Given the description of an element on the screen output the (x, y) to click on. 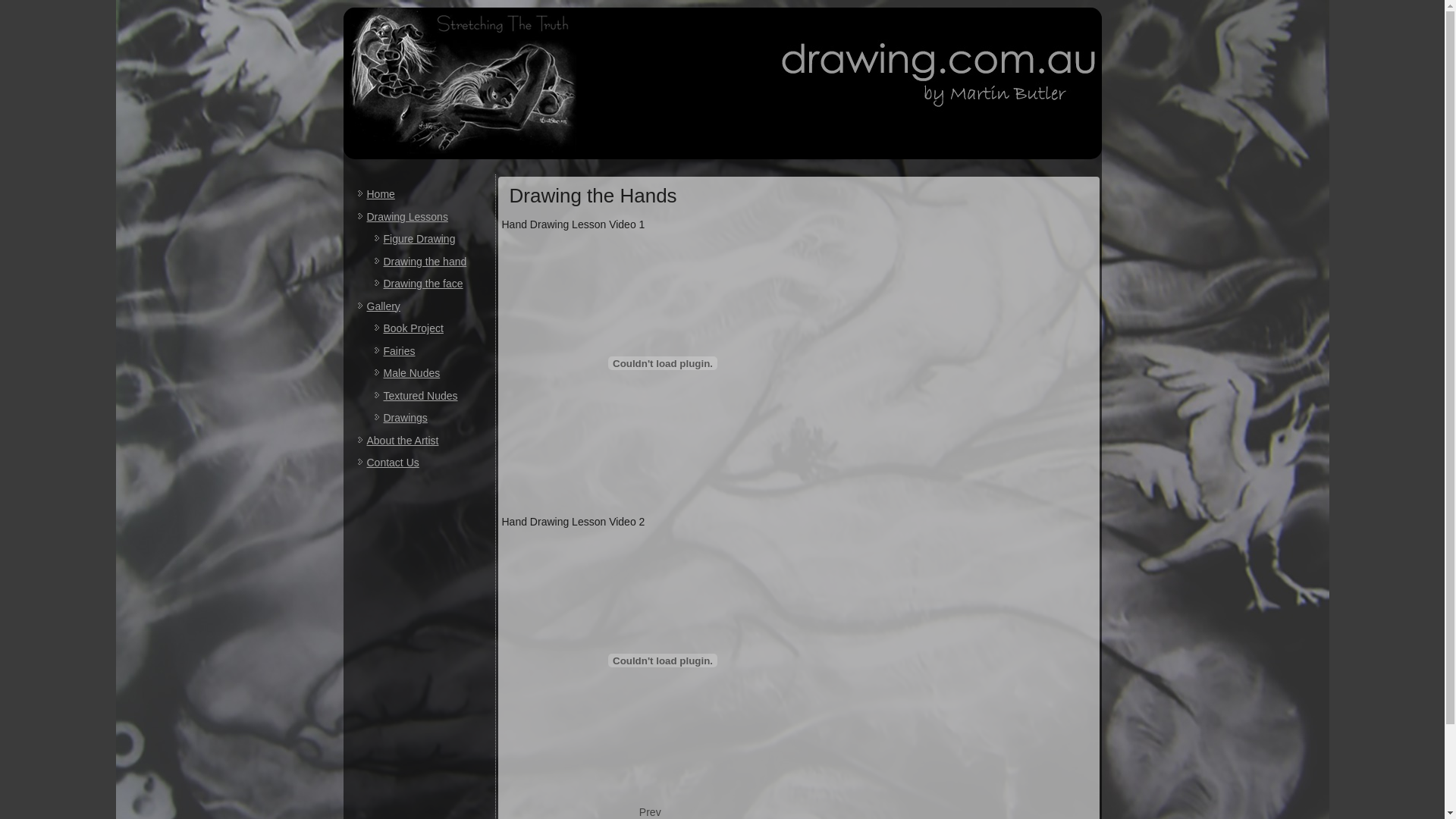
Drawing the Hands Element type: text (593, 195)
Prev Element type: text (650, 812)
Contact Us Element type: text (393, 462)
Drawing the face Element type: text (423, 283)
Home Element type: text (381, 194)
Fairies Element type: text (399, 350)
About the Artist Element type: text (403, 439)
Gallery Element type: text (383, 306)
Drawing Lessons Element type: text (407, 216)
Drawings Element type: text (405, 417)
Textured Nudes Element type: text (420, 395)
Drawing the hand Element type: text (425, 260)
Book Project Element type: text (413, 328)
Male Nudes Element type: text (411, 373)
Figure Drawing Element type: text (419, 238)
